Given the description of an element on the screen output the (x, y) to click on. 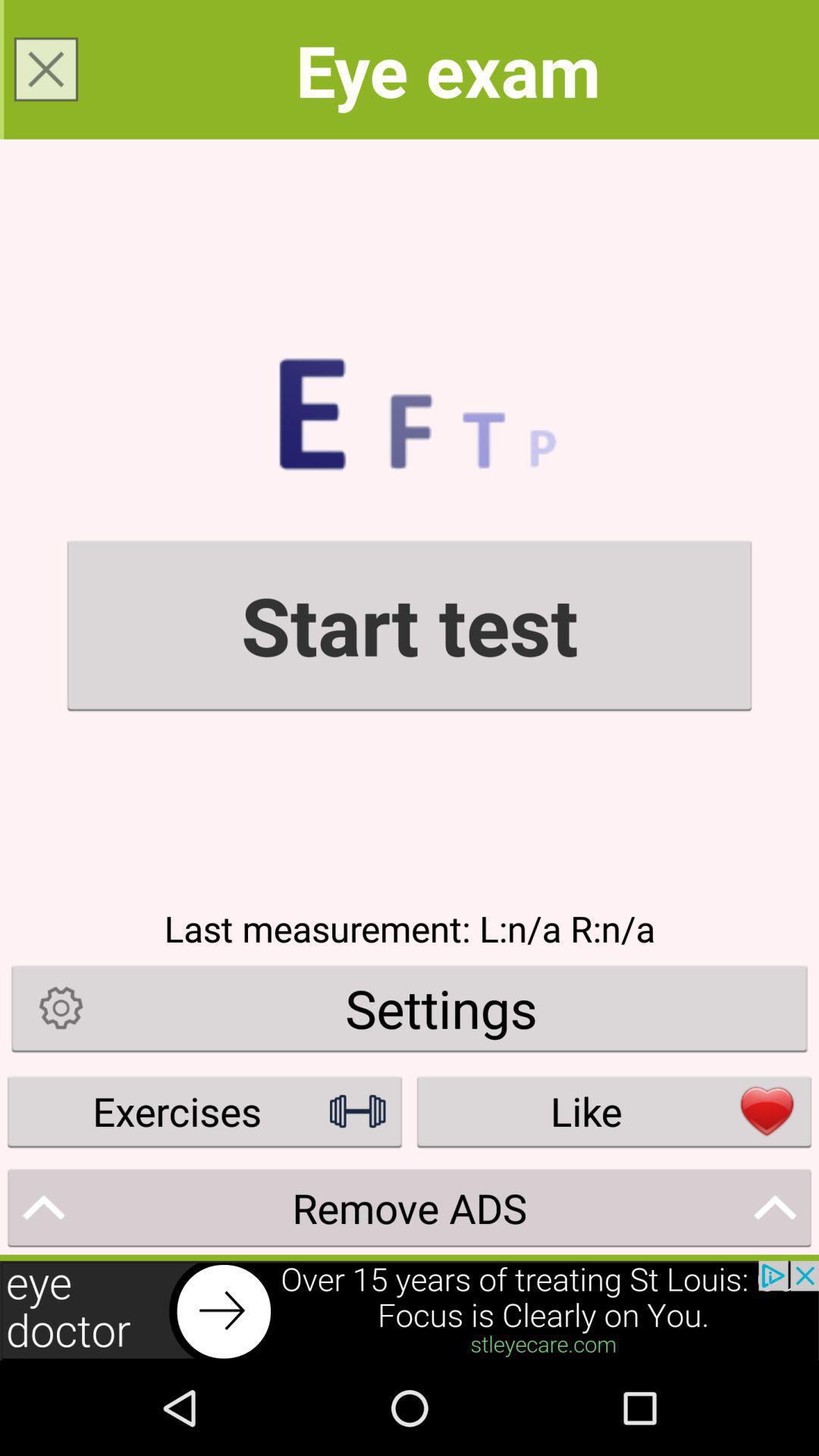
open advertisement (409, 1310)
